Given the description of an element on the screen output the (x, y) to click on. 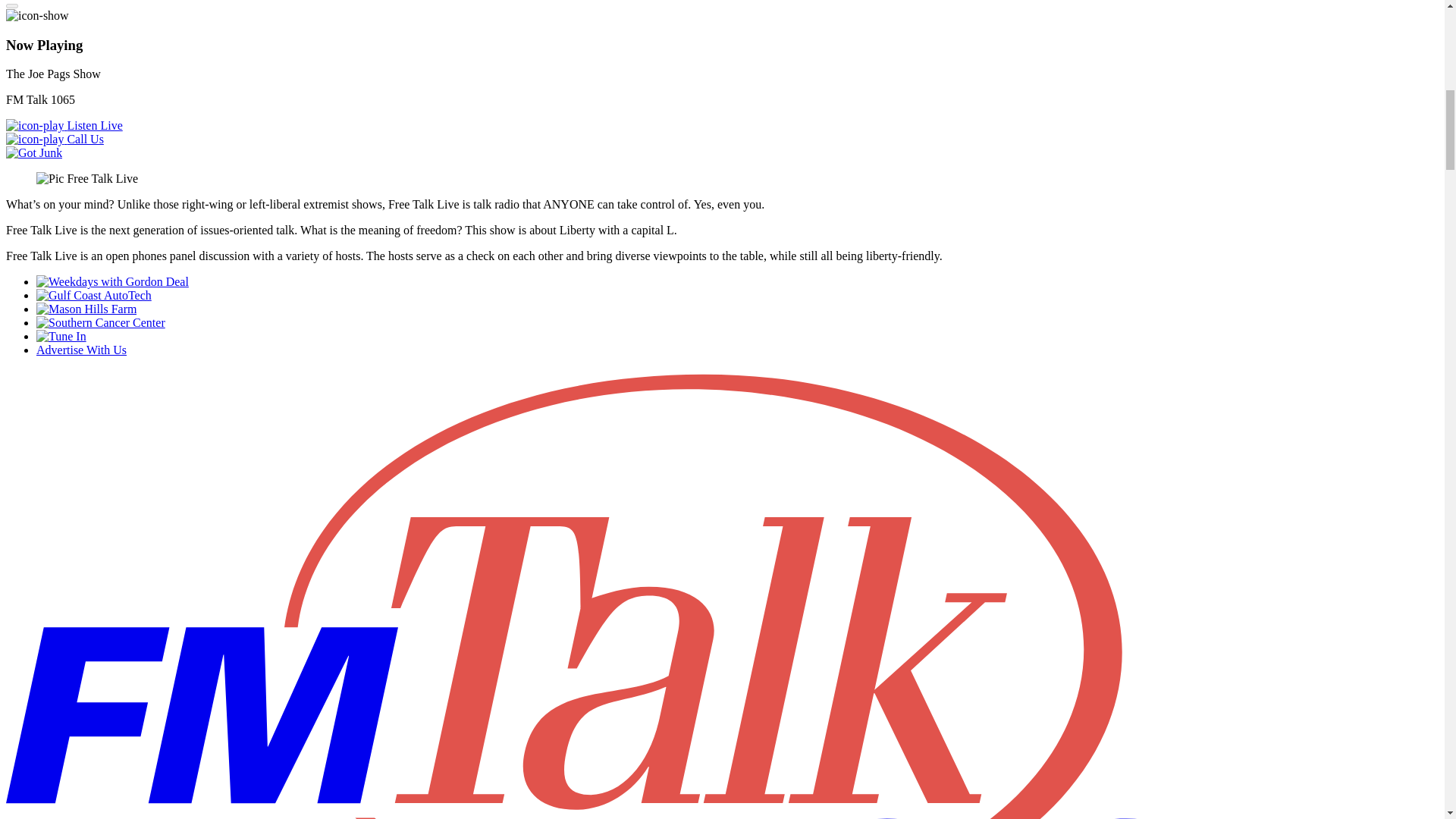
Advertise With Us (81, 349)
Listen Live (63, 124)
Call Us (54, 138)
